Given the description of an element on the screen output the (x, y) to click on. 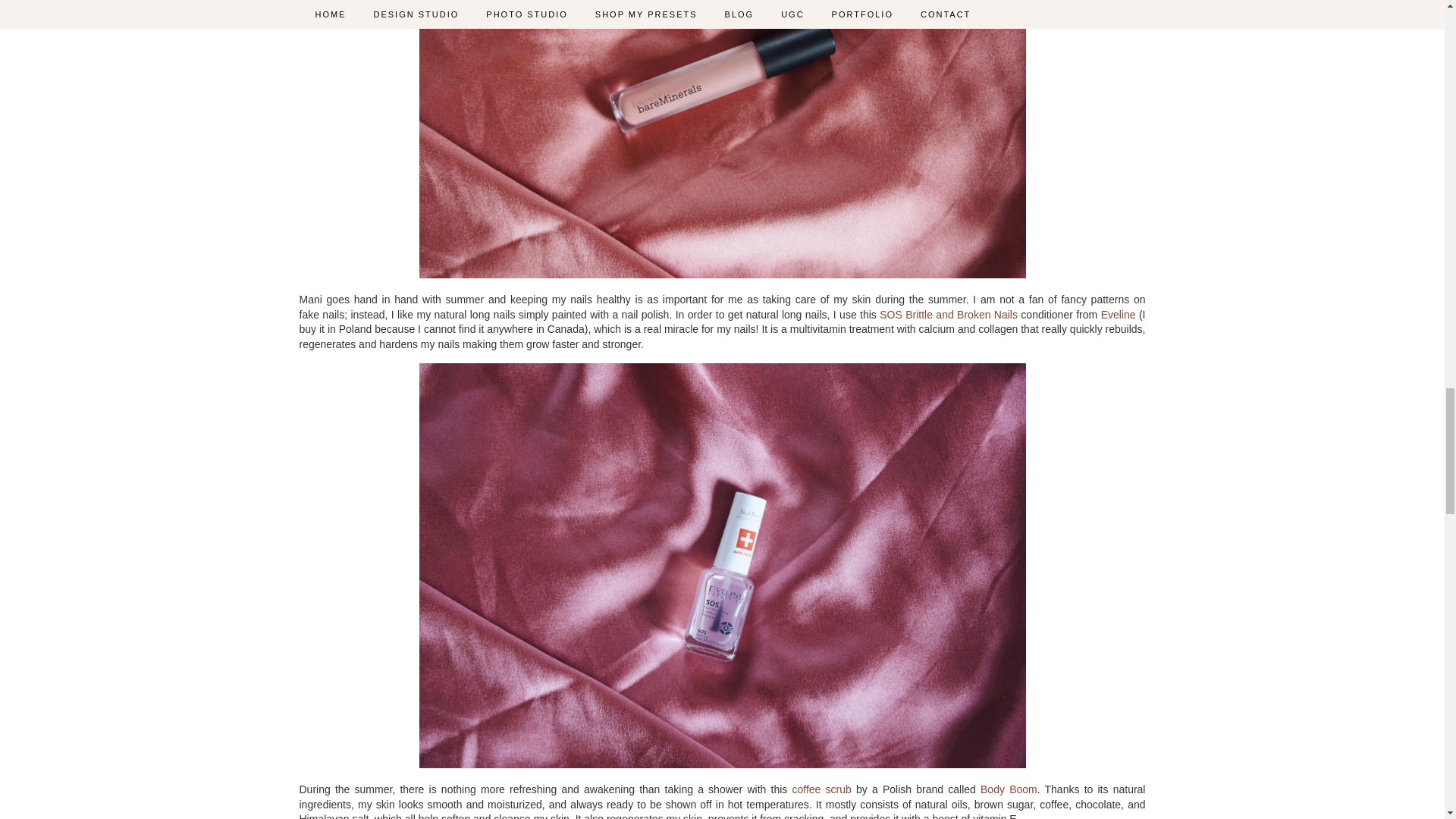
Eveline (1117, 314)
coffee scrub (821, 788)
SOS Brittle and Broken Nails (948, 314)
Body Boom (1007, 788)
